Given the description of an element on the screen output the (x, y) to click on. 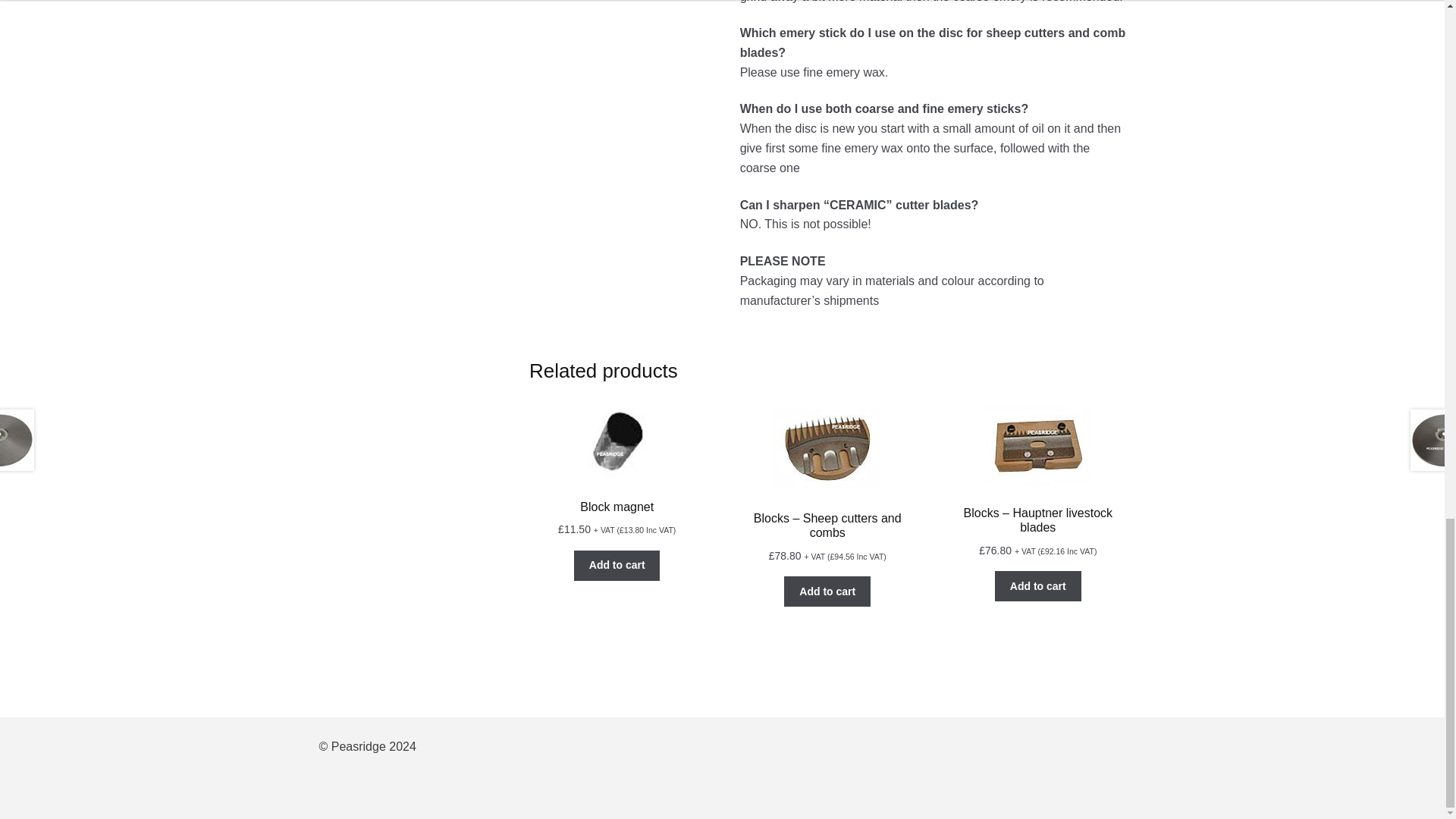
Add to cart (1037, 585)
Add to cart (827, 591)
Add to cart (617, 565)
